Given the description of an element on the screen output the (x, y) to click on. 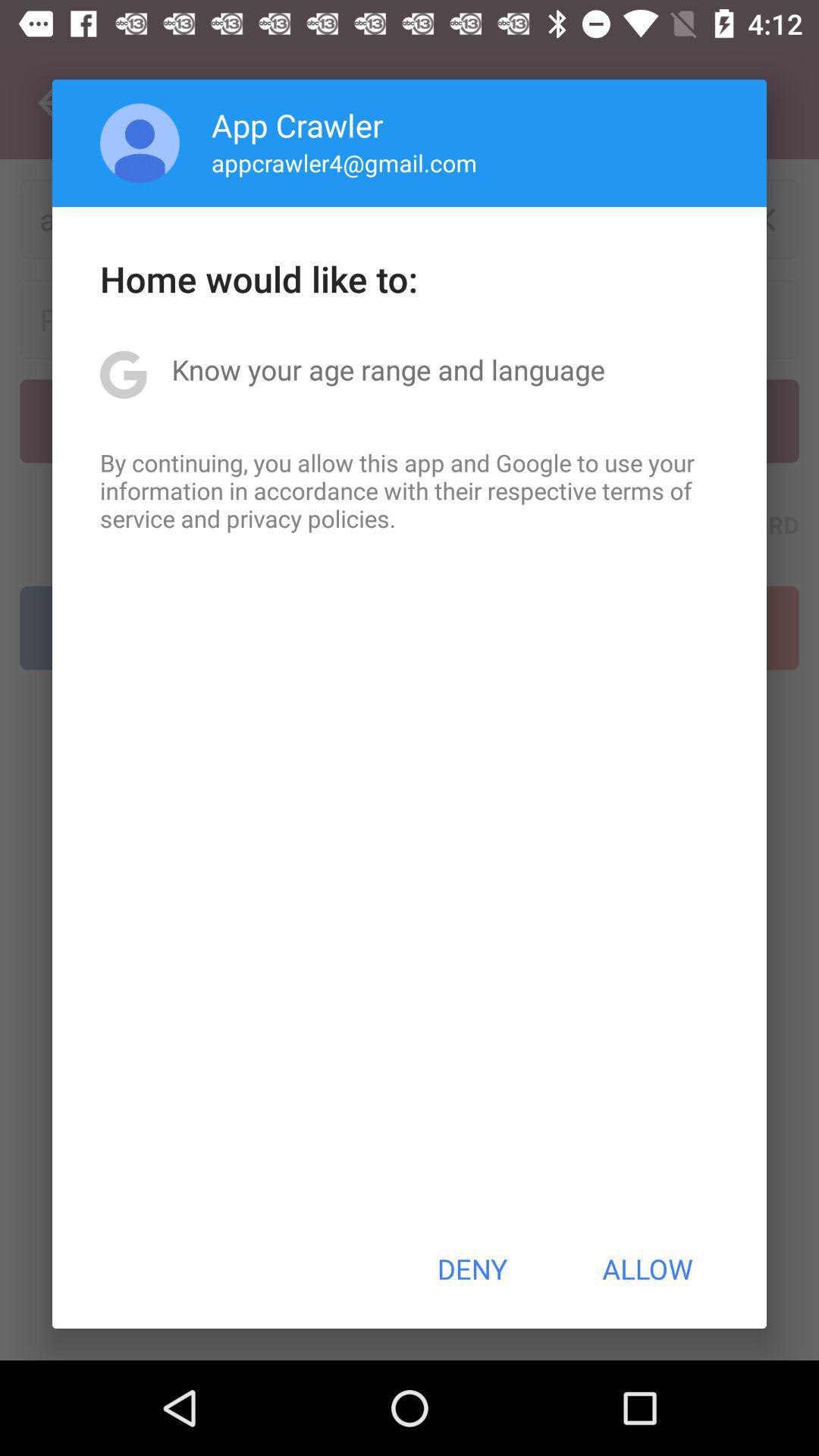
turn on deny icon (471, 1268)
